Given the description of an element on the screen output the (x, y) to click on. 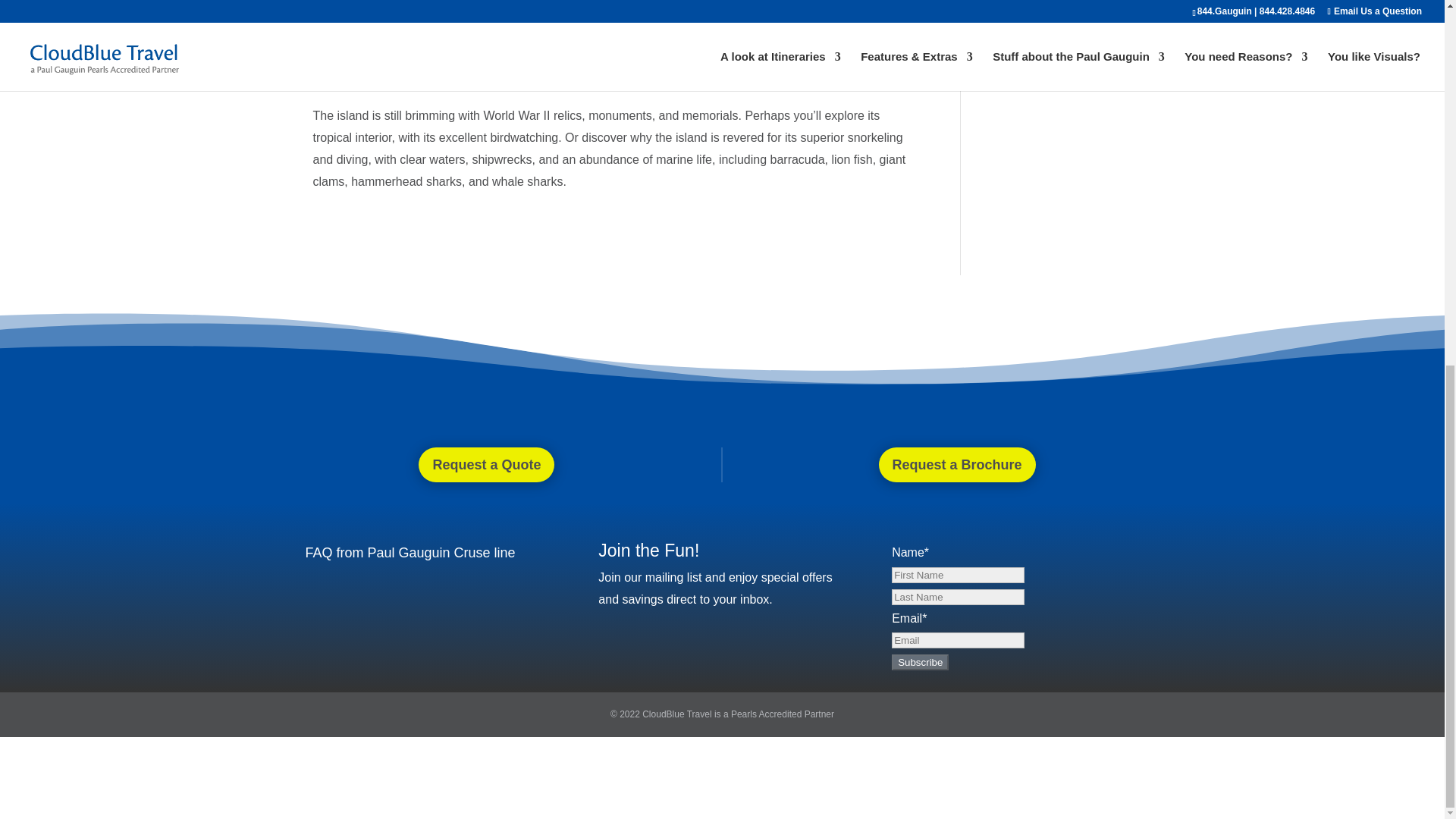
FAQ from Paul Gauguin Cruse line (409, 552)
Request a Quote (486, 465)
Subscribe (920, 662)
Request a Brochure (957, 465)
